Given the description of an element on the screen output the (x, y) to click on. 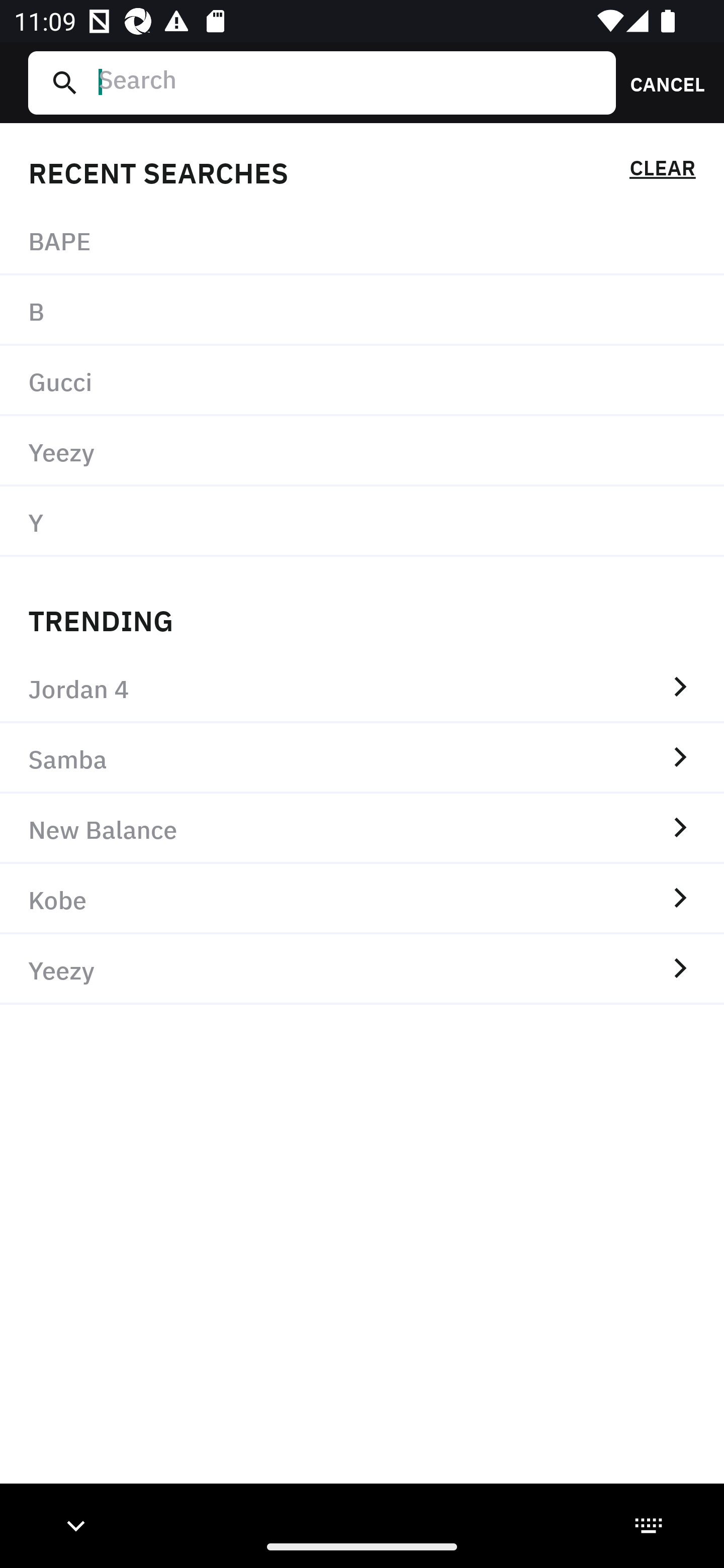
CANCEL (660, 82)
Search (349, 82)
CLEAR (662, 170)
BAPE (362, 240)
B (362, 310)
Gucci (362, 380)
Yeezy (362, 450)
Y (362, 521)
Jordan 4  (362, 687)
Samba  (362, 757)
New Balance  (362, 828)
Kobe  (362, 898)
Yeezy  (362, 969)
